Given the description of an element on the screen output the (x, y) to click on. 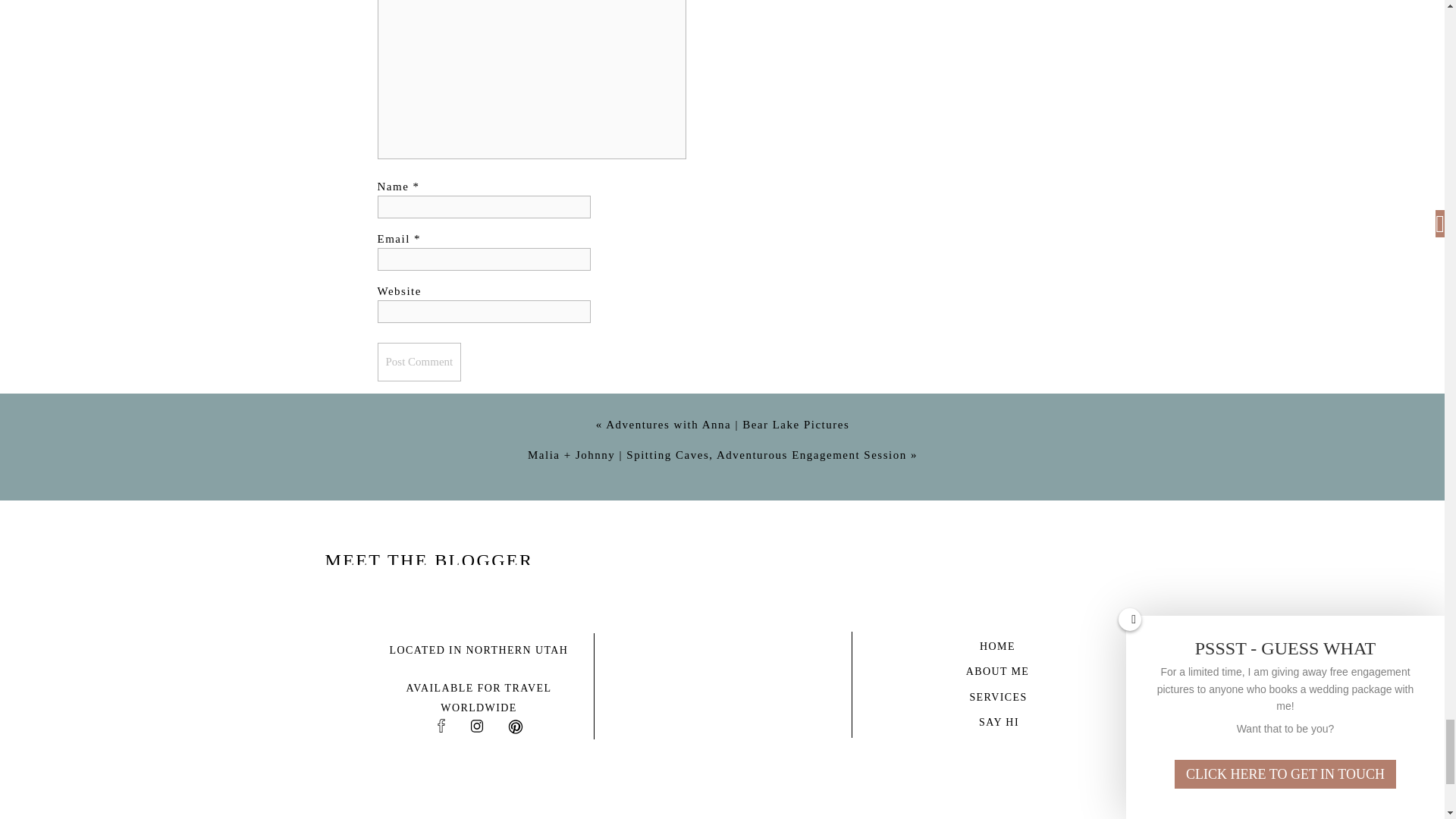
Post Comment (419, 362)
Post Comment (419, 362)
